Given the description of an element on the screen output the (x, y) to click on. 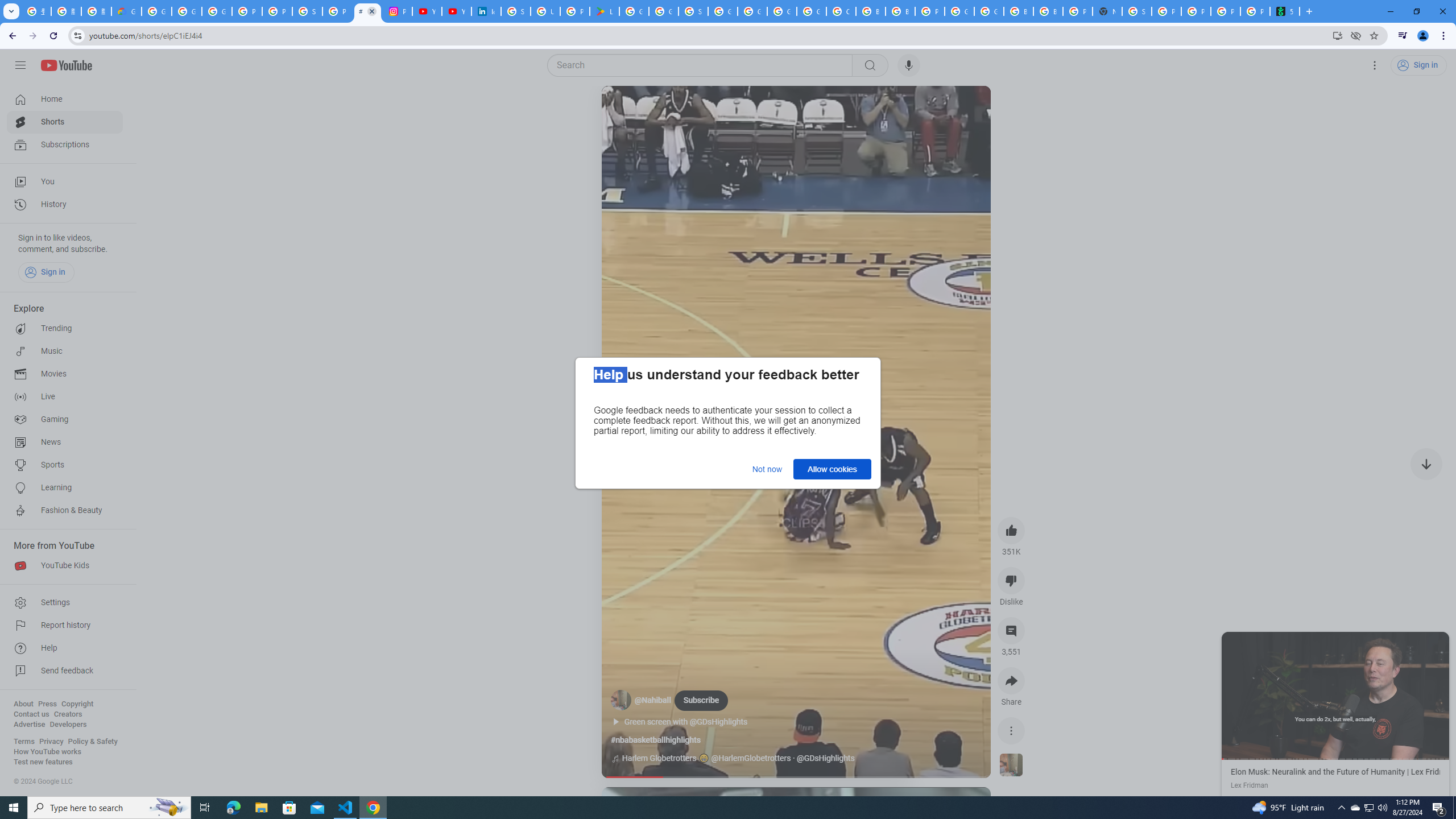
Next (SHIFT+n) (1392, 694)
Contact us (31, 714)
Dislike this video (1011, 580)
#nbabasketballhighlights (655, 740)
Expand (i) (1232, 643)
